Given the description of an element on the screen output the (x, y) to click on. 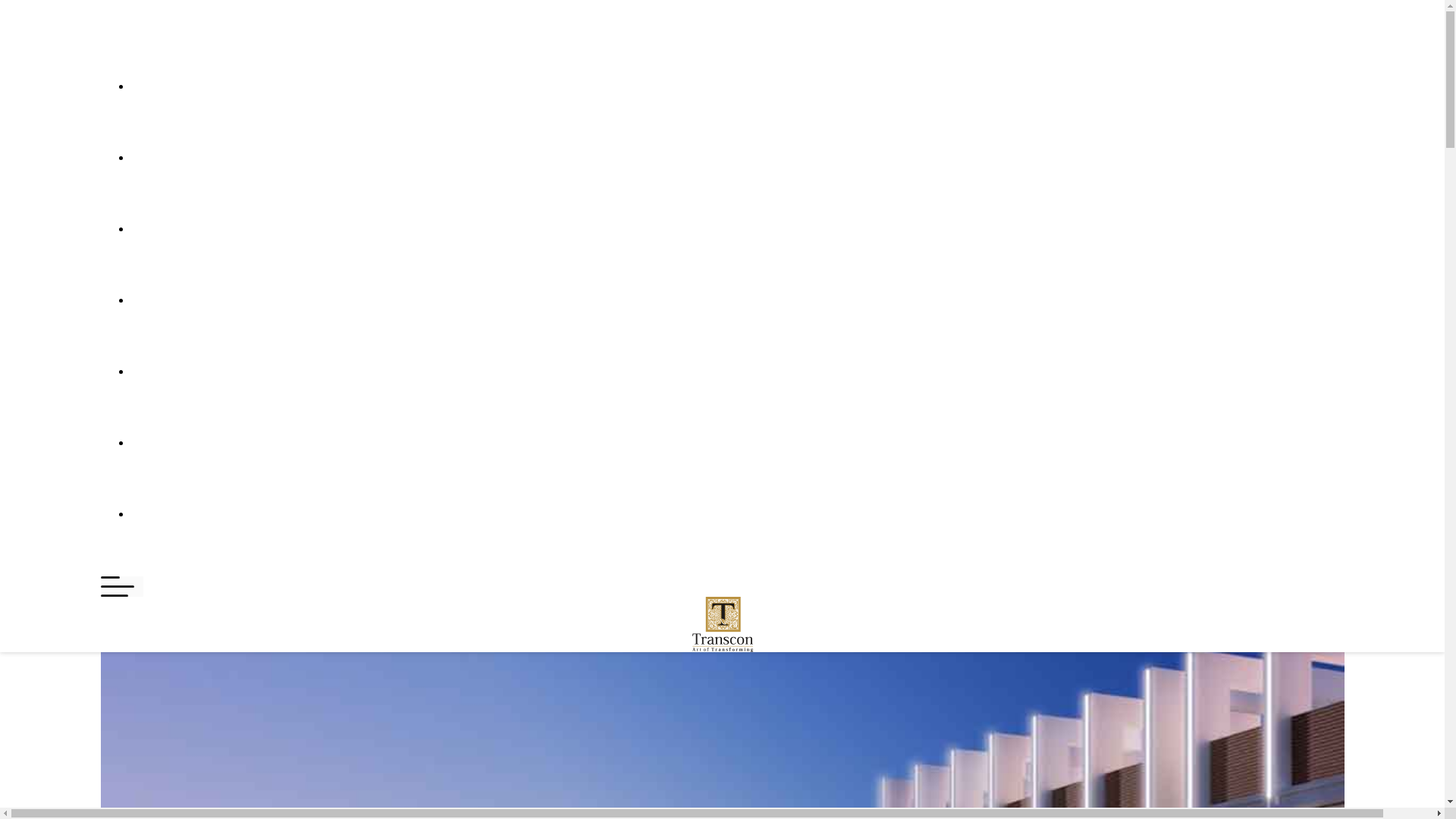
BLOG (174, 364)
CONTACT US (230, 506)
MEDIA (183, 293)
SUBMIT (98, 478)
NRI CORNER (227, 221)
PROJECTS (208, 150)
ABOUT US (210, 79)
CAREER (194, 435)
